Given the description of an element on the screen output the (x, y) to click on. 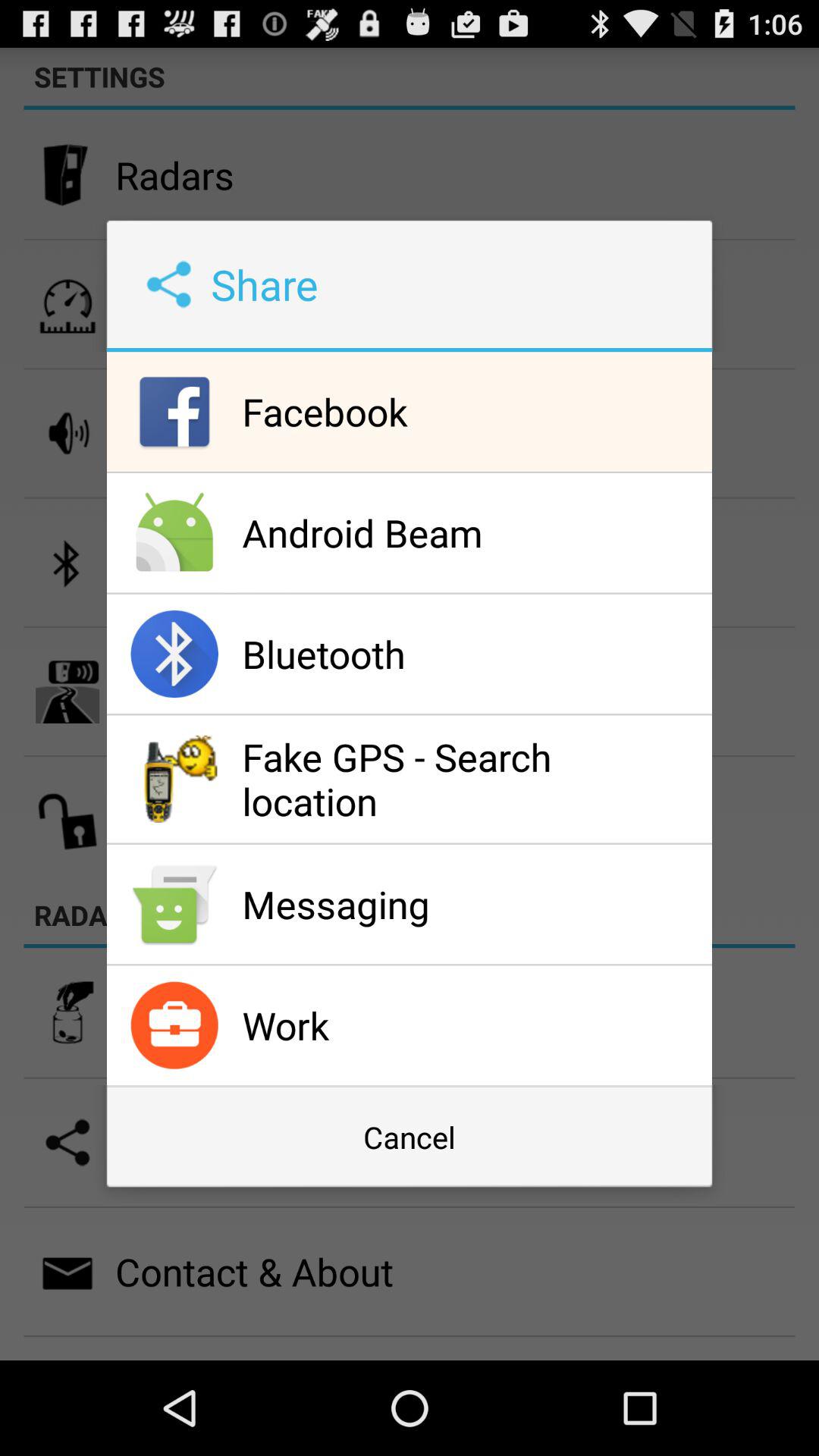
launch cancel button (409, 1136)
